Given the description of an element on the screen output the (x, y) to click on. 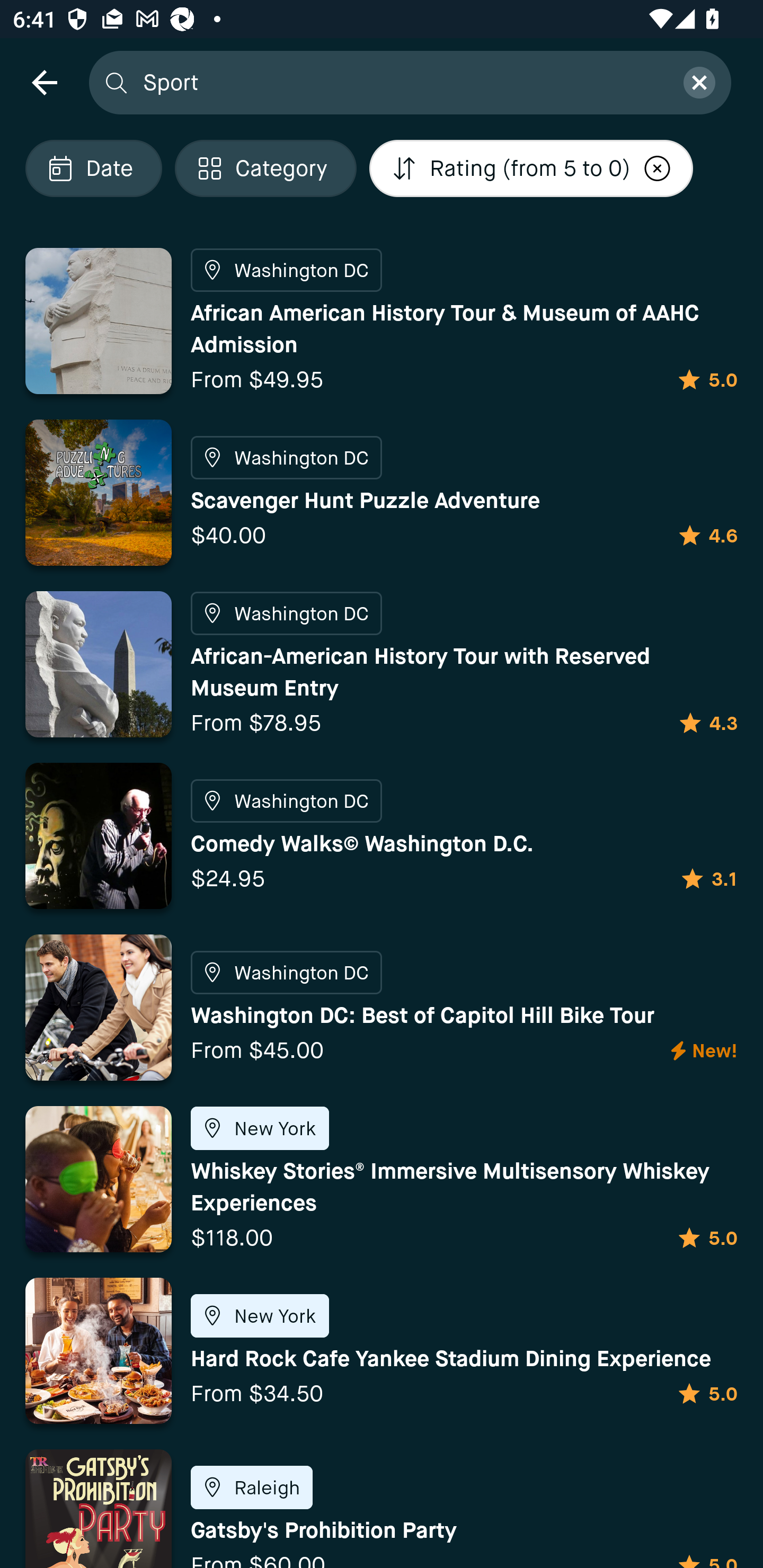
navigation icon (44, 81)
Sport (402, 81)
Localized description Date (93, 168)
Localized description Category (265, 168)
Localized description (657, 168)
